Given the description of an element on the screen output the (x, y) to click on. 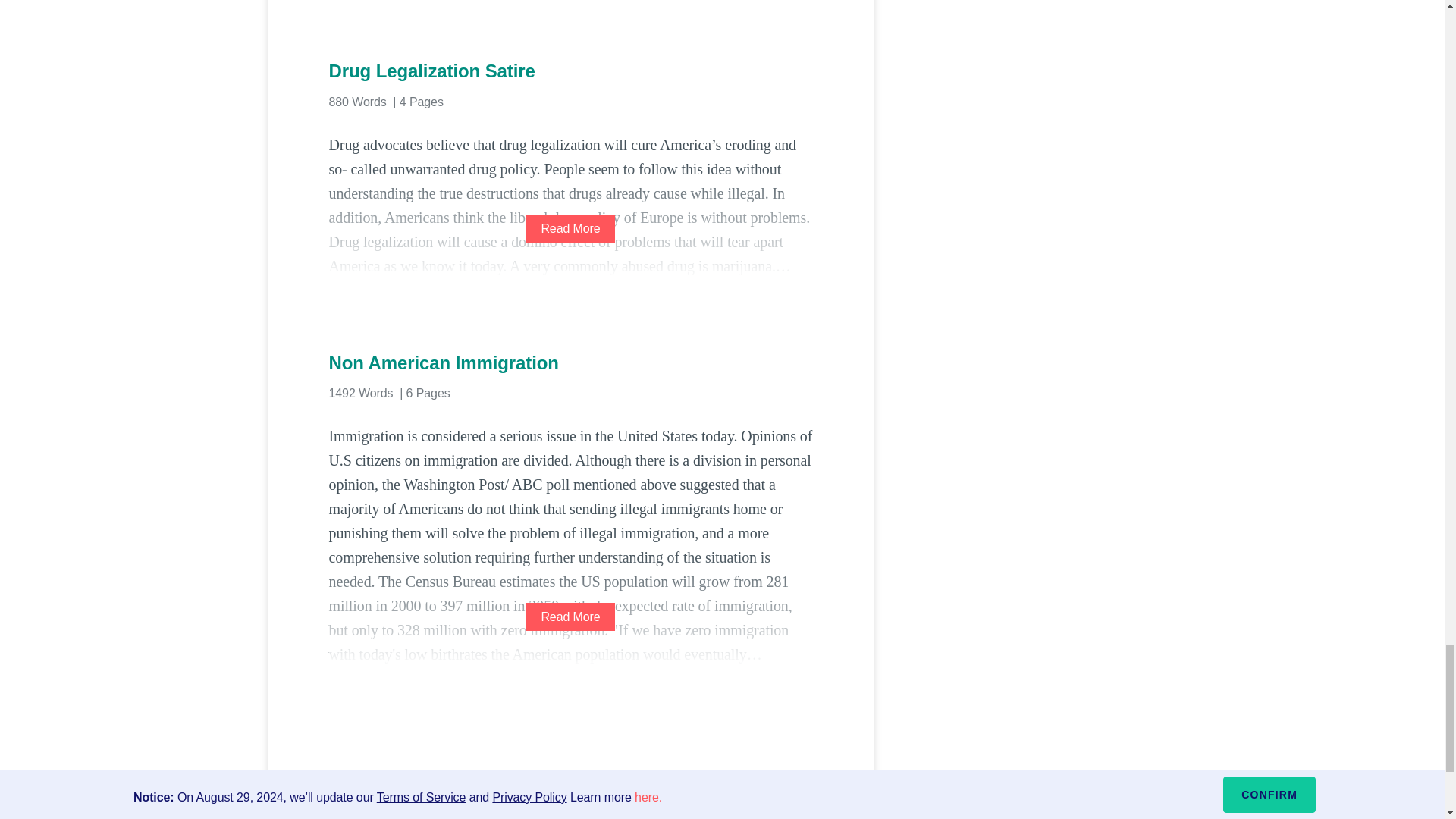
Read More (569, 228)
Drug Legalization Satire (570, 70)
Non American Immigration (570, 363)
Read More (569, 616)
